Given the description of an element on the screen output the (x, y) to click on. 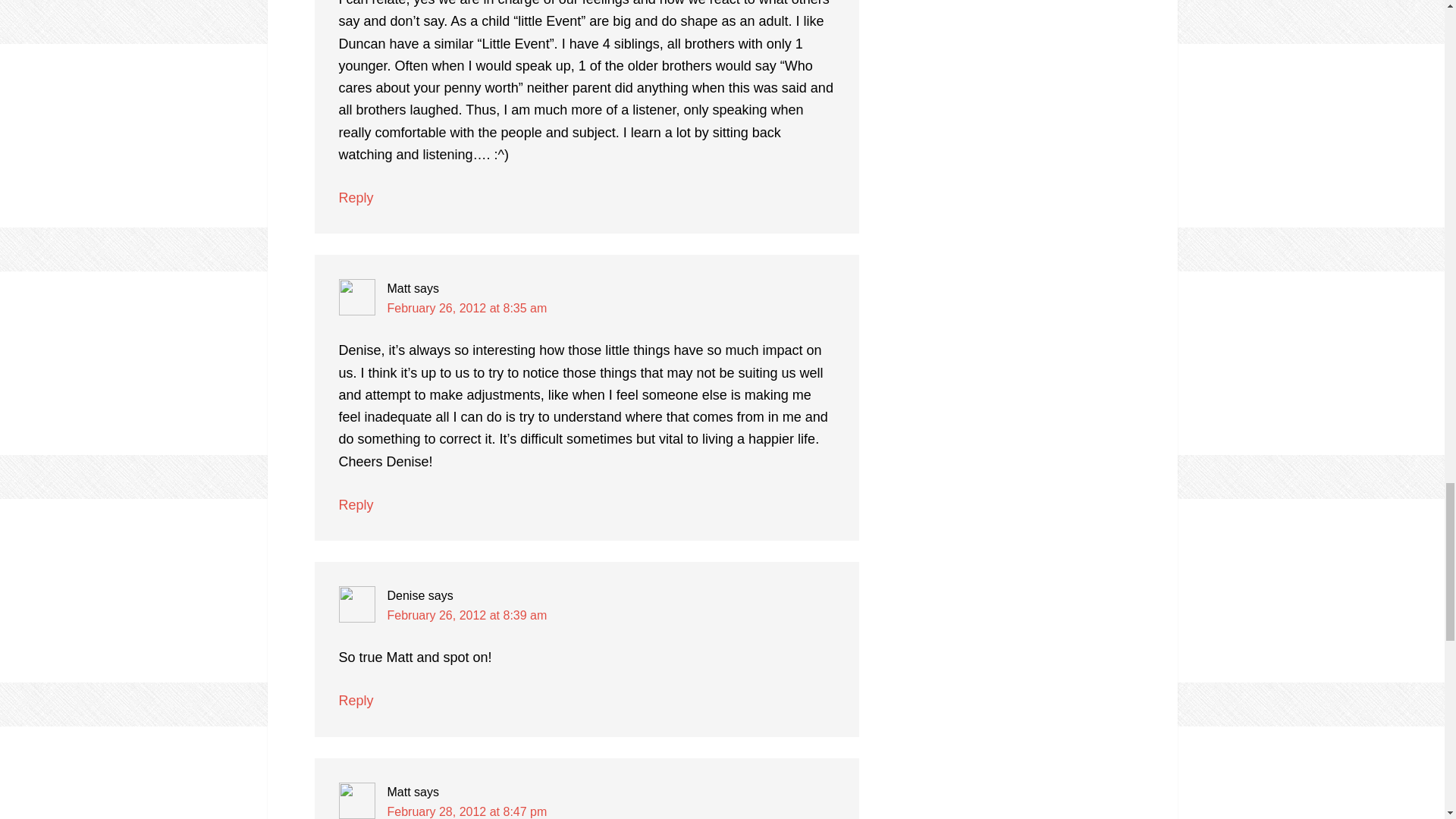
February 26, 2012 at 8:35 am (467, 308)
Reply (354, 700)
February 26, 2012 at 8:39 am (467, 615)
Reply (354, 504)
February 28, 2012 at 8:47 pm (467, 811)
Reply (354, 197)
